Given the description of an element on the screen output the (x, y) to click on. 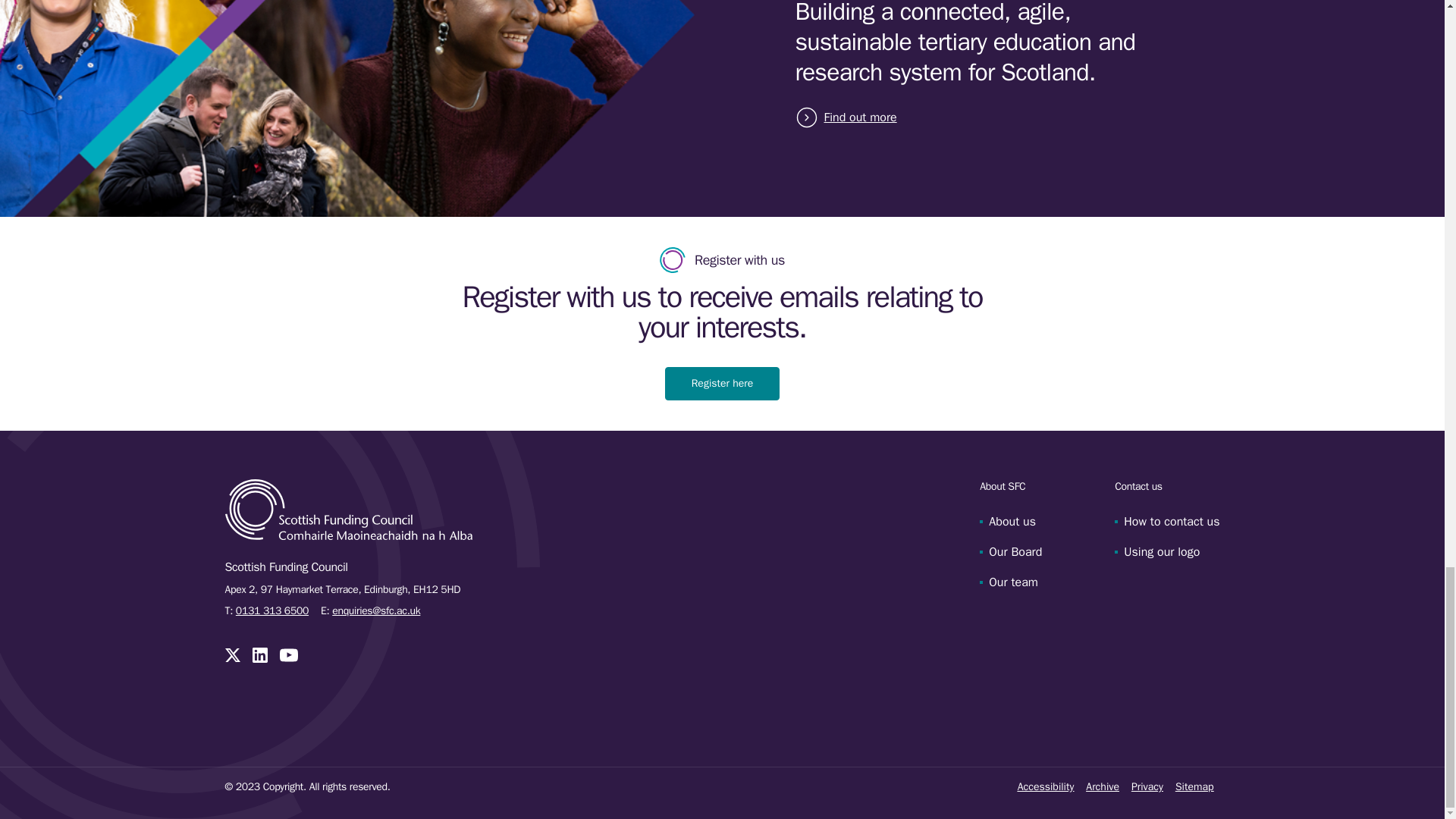
Scottish Funding Council on LinkedIn (258, 654)
Find out more (856, 117)
Scottish Funding Council on Twitter (232, 654)
Scottish Funding Council on YouTube (288, 655)
